Given the description of an element on the screen output the (x, y) to click on. 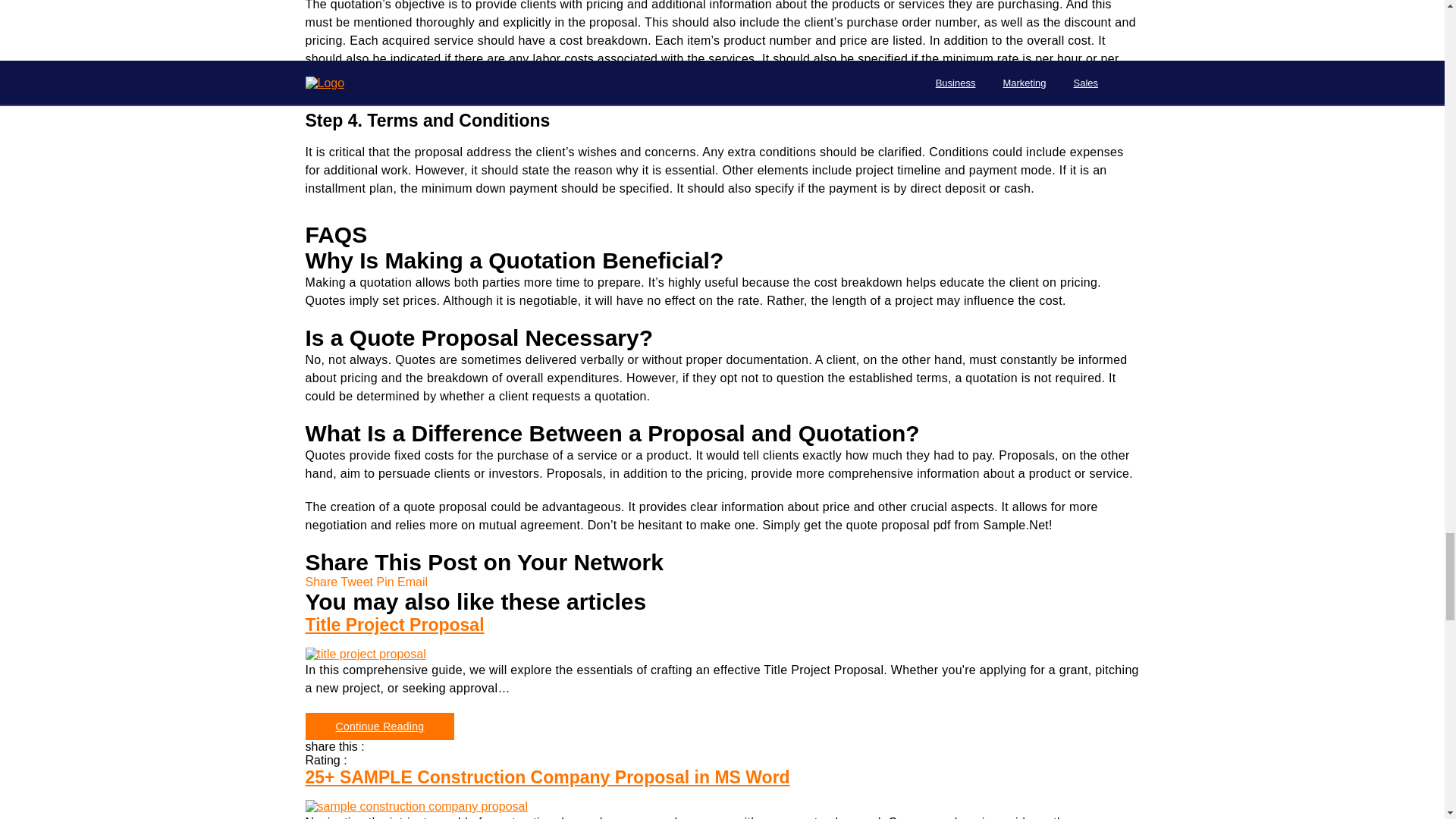
Title Project Proposal (364, 653)
Title Project Proposal (379, 726)
Title Project Proposal (721, 653)
Title Project Proposal (721, 625)
